Given the description of an element on the screen output the (x, y) to click on. 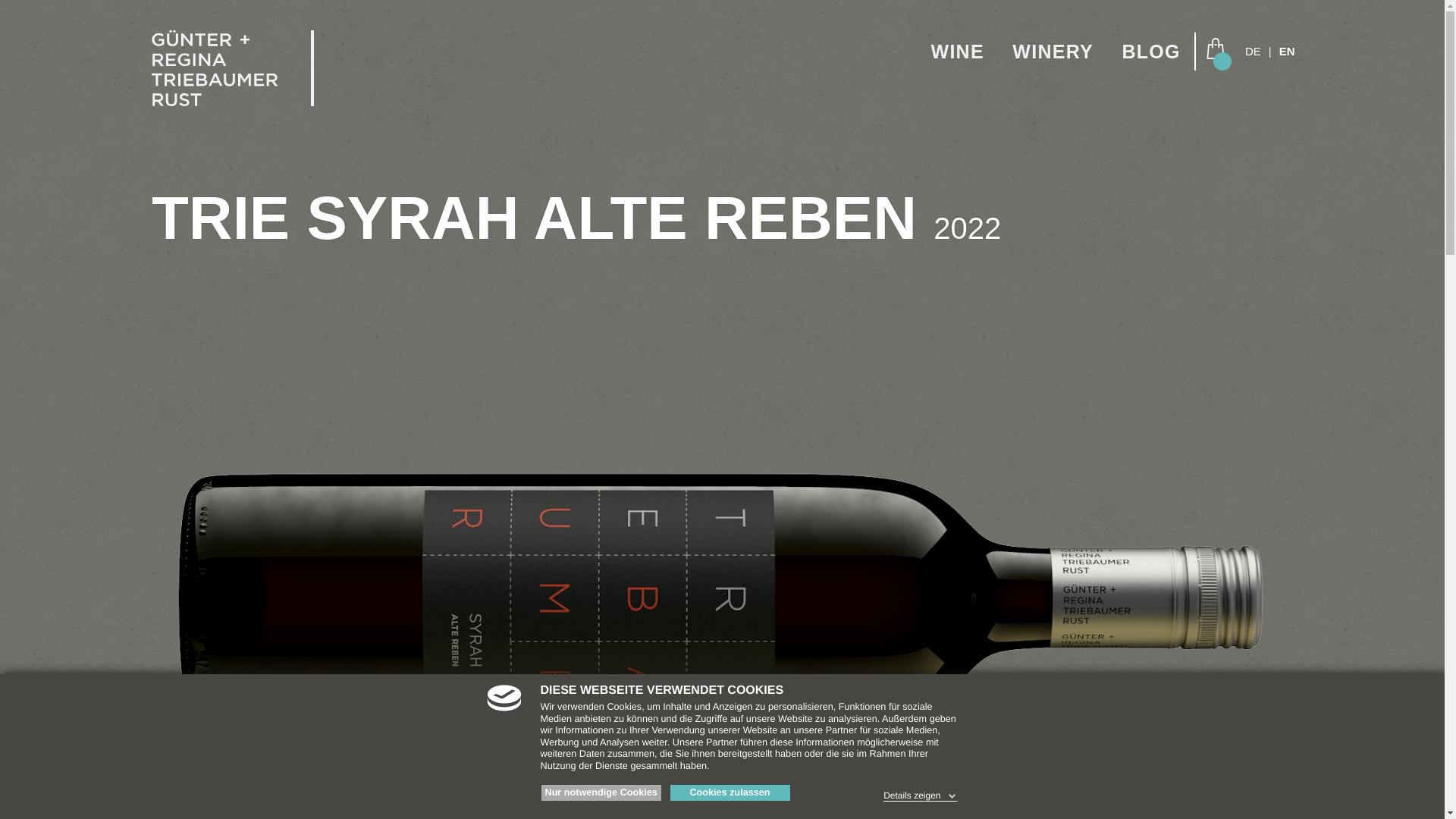
WINERY (1053, 51)
Details zeigen (920, 793)
Nur notwendige Cookies (601, 792)
EN (1287, 50)
Cookies zulassen (729, 792)
WINE (956, 51)
DE (1252, 50)
BLOG (1150, 51)
